Given the description of an element on the screen output the (x, y) to click on. 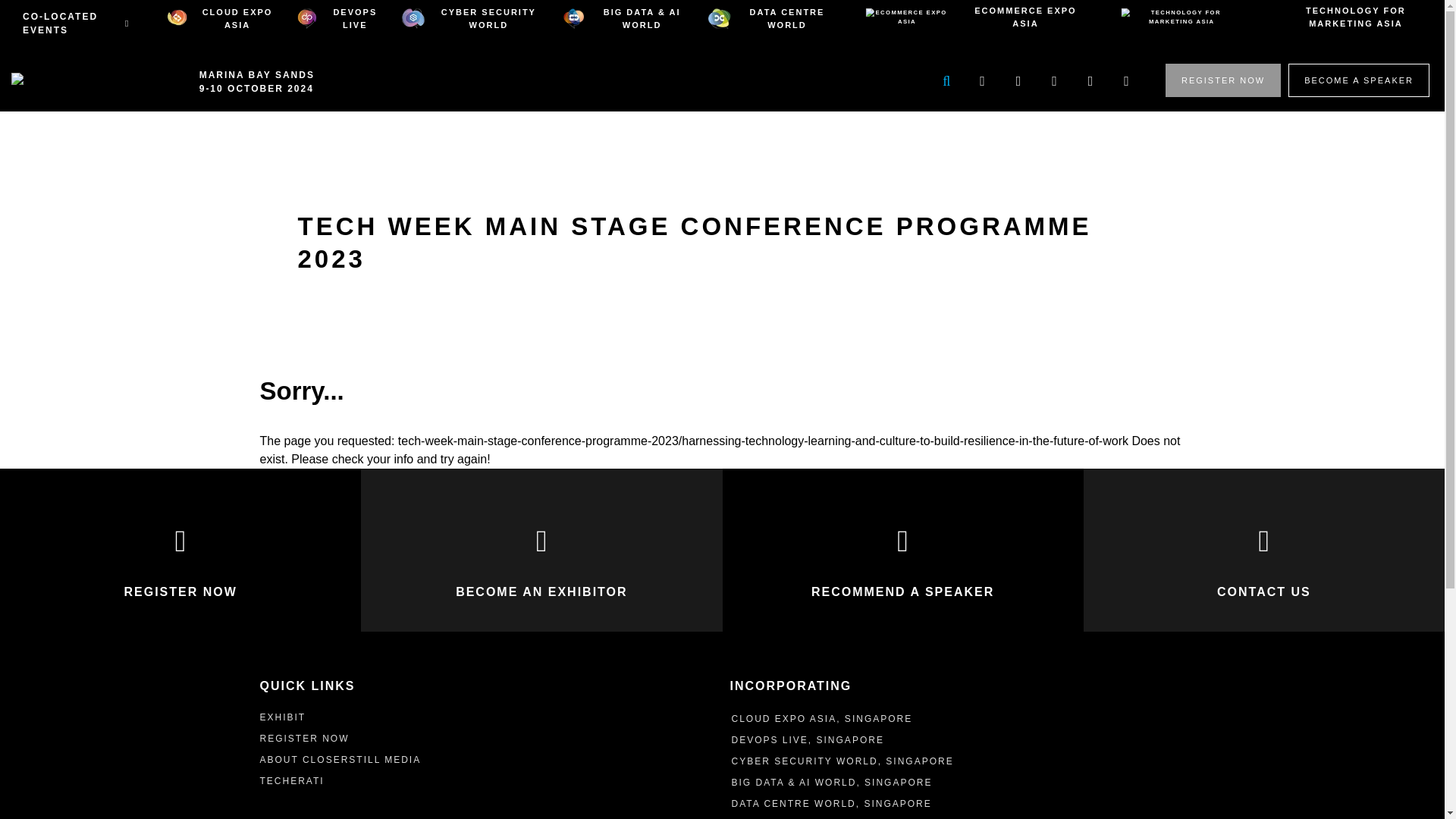
Search (946, 81)
Facebook (1090, 81)
DEVOPS LIVE, SINGAPORE (806, 739)
YouTube (1054, 81)
REGISTER NOW (304, 738)
DATA CENTRE WORLD, SINGAPORE (830, 803)
Instagram (1125, 81)
DATA CENTRE WORLD (766, 18)
EXHIBIT  (283, 716)
exhibit-tech-week (283, 716)
